Given the description of an element on the screen output the (x, y) to click on. 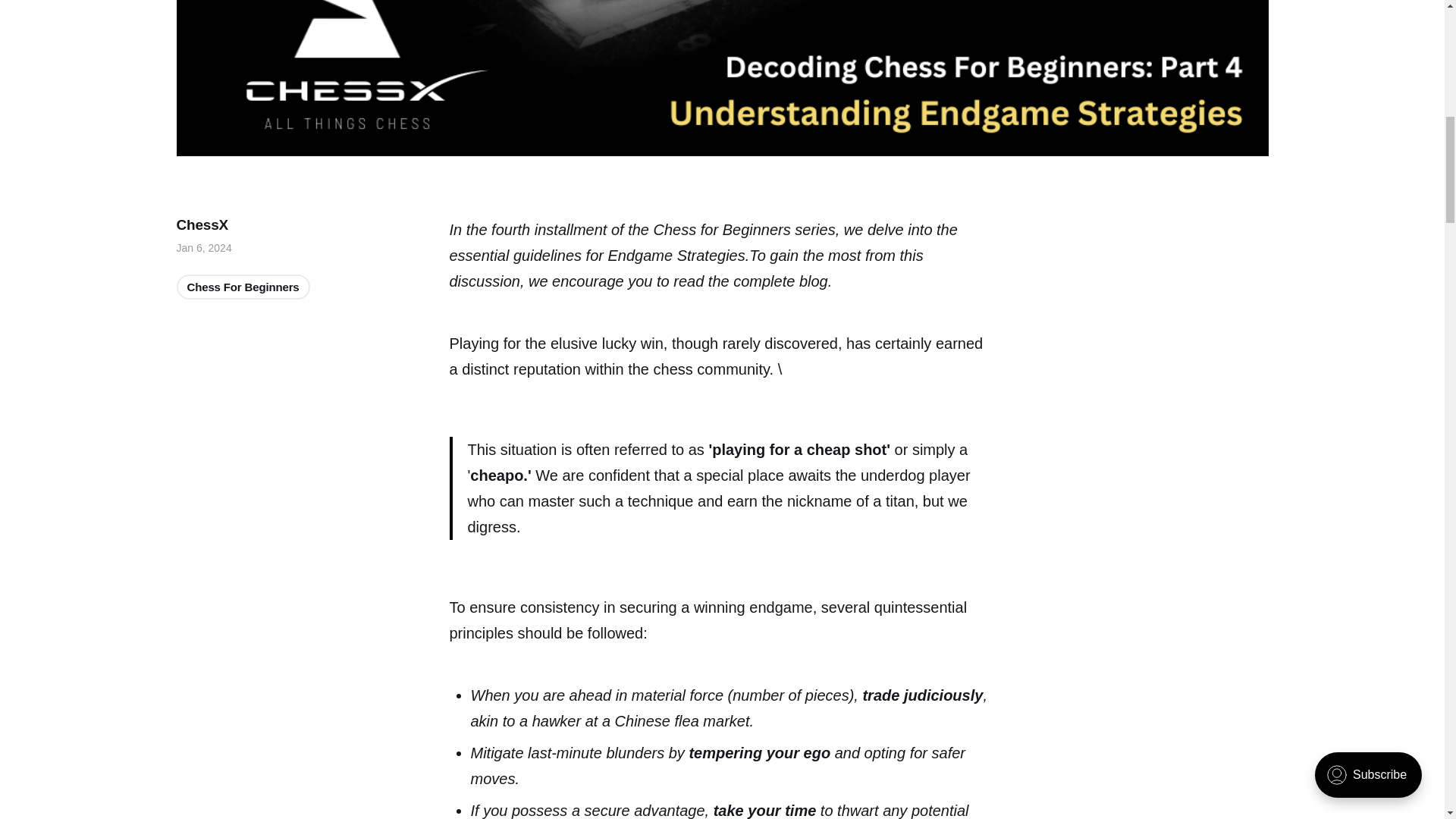
ChessX (202, 224)
Chess For Beginners (242, 287)
